Given the description of an element on the screen output the (x, y) to click on. 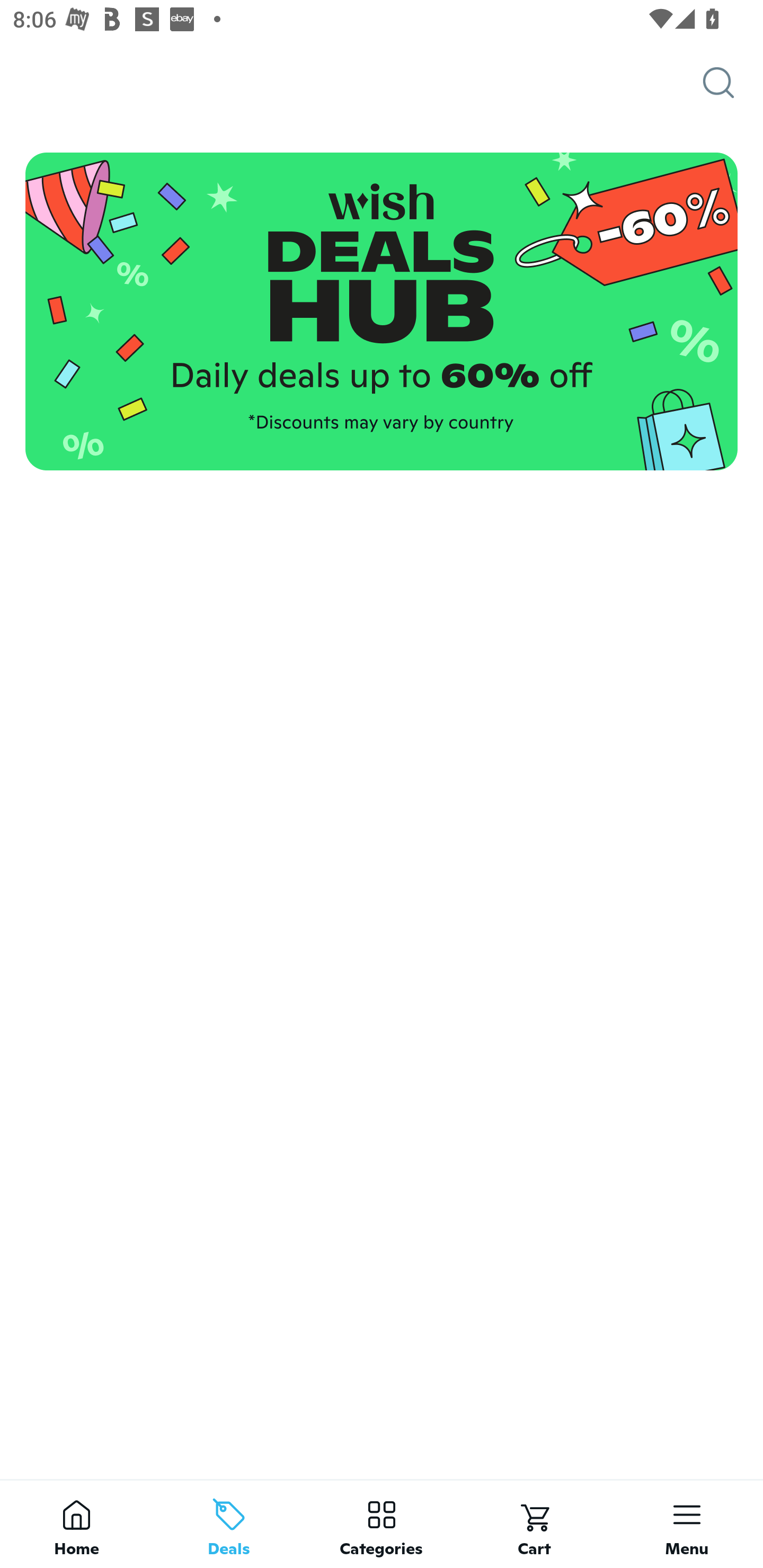
Search (732, 82)
Home (76, 1523)
Deals (228, 1523)
Categories (381, 1523)
Cart (533, 1523)
Menu (686, 1523)
